Given the description of an element on the screen output the (x, y) to click on. 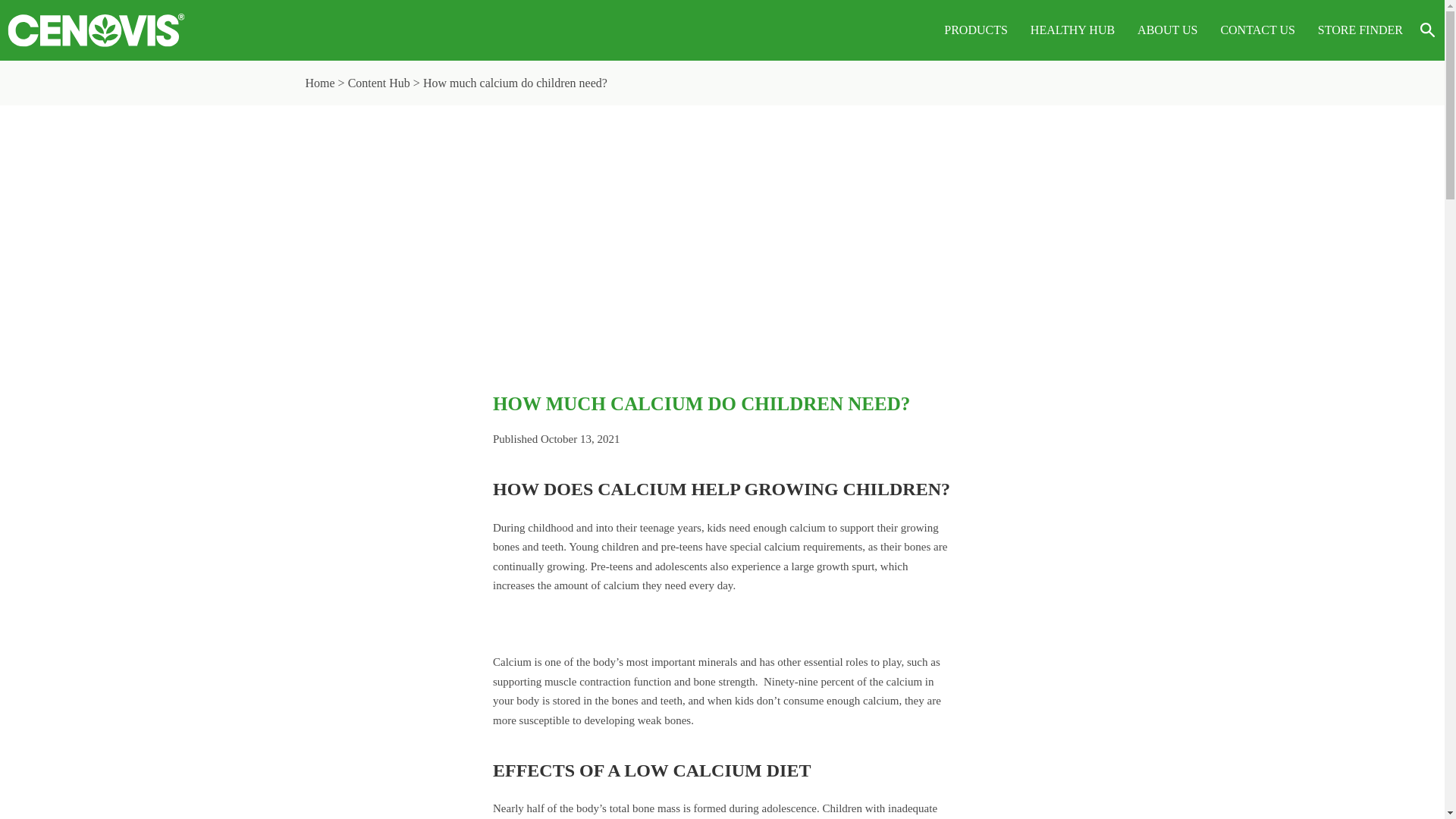
PRODUCTS (975, 29)
Home (319, 82)
STORE FINDER (1360, 29)
HEALTHY HUB (1072, 29)
ABOUT US (1166, 29)
CONTACT US (1257, 29)
Back to Home (95, 29)
Content Hub (380, 82)
